Given the description of an element on the screen output the (x, y) to click on. 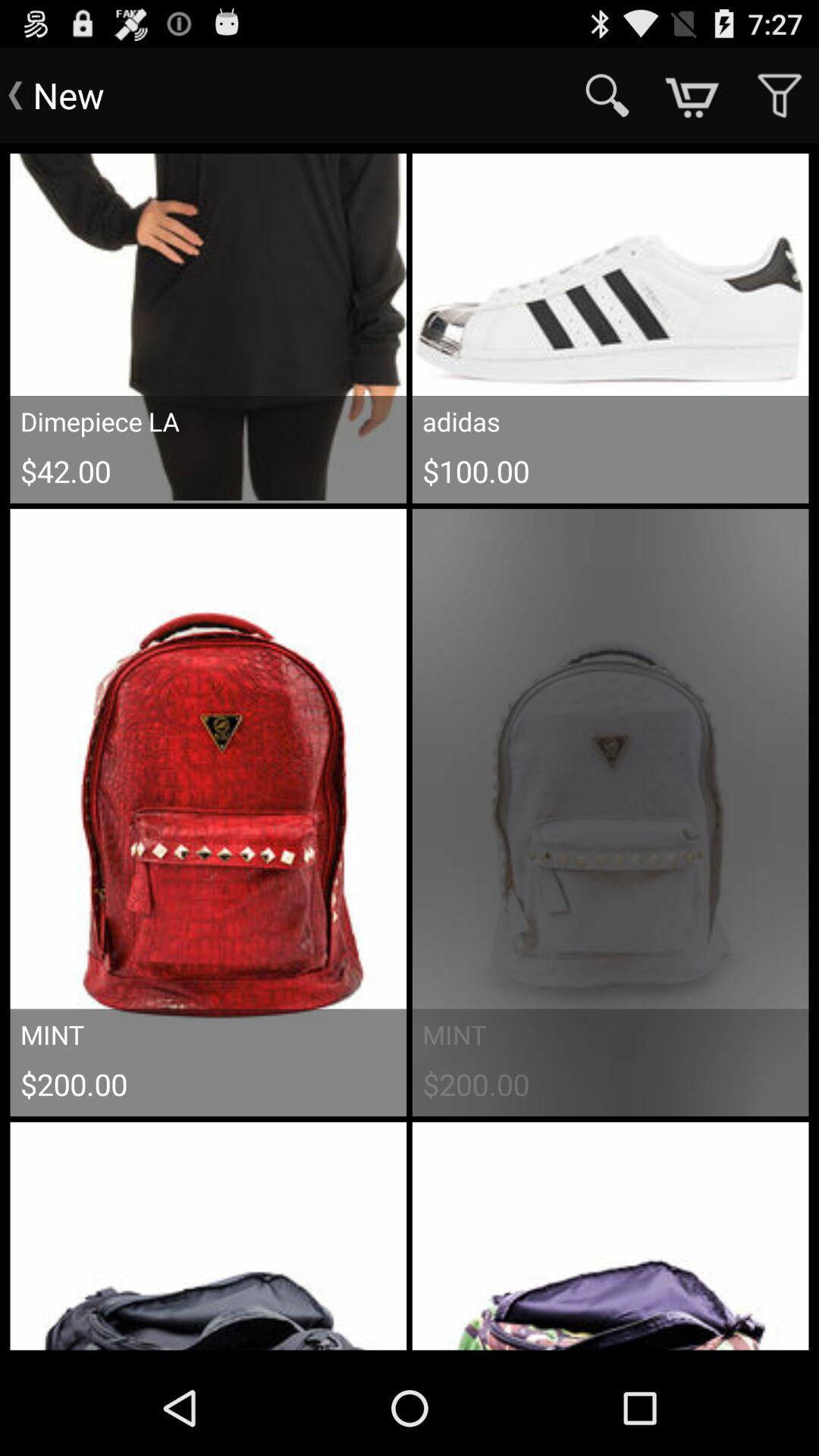
turn on the icon to the right of new icon (607, 95)
